Given the description of an element on the screen output the (x, y) to click on. 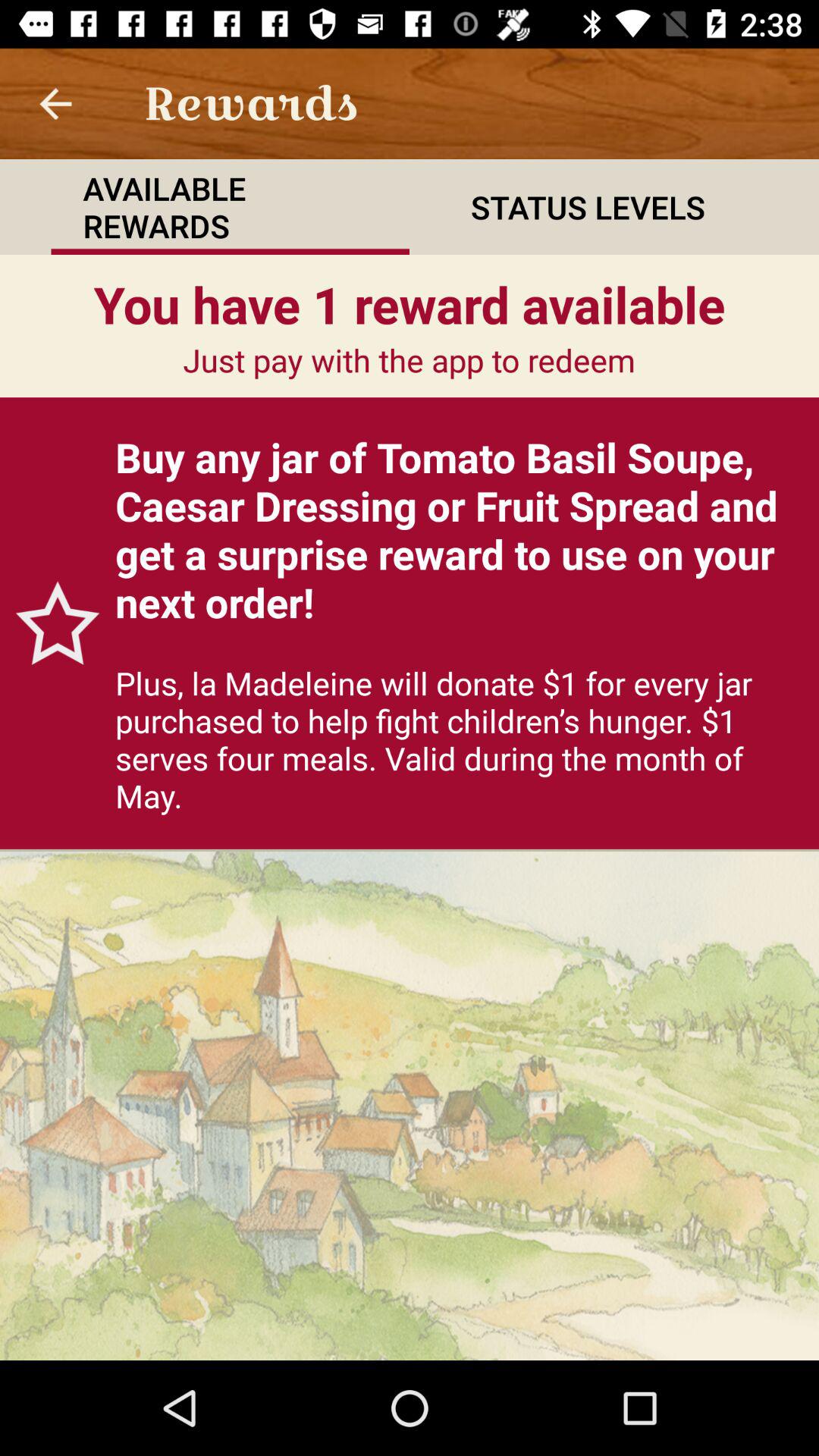
press the icon to the left of buy any jar item (49, 622)
